Given the description of an element on the screen output the (x, y) to click on. 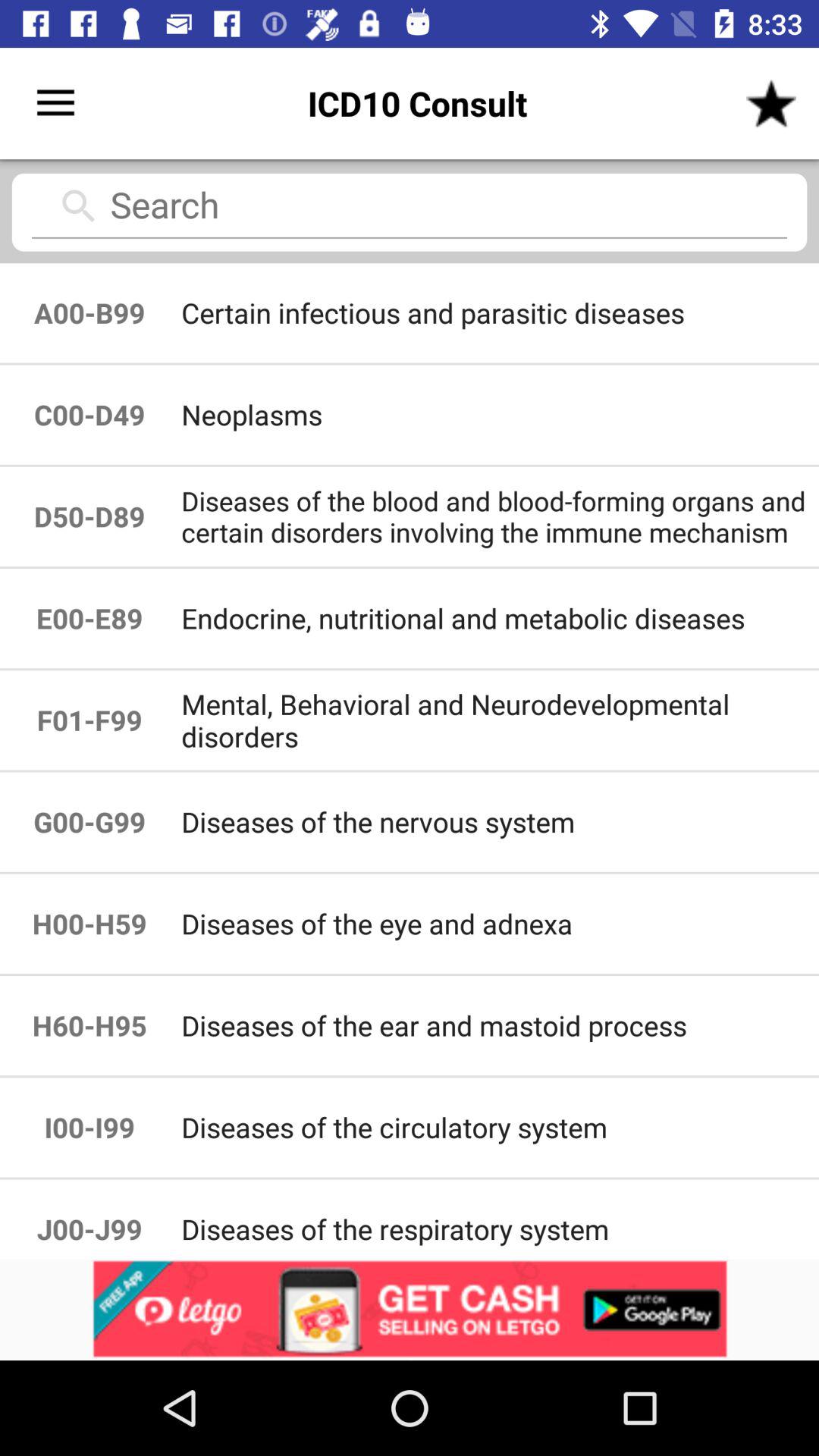
launch the item next to icd10 consult (55, 103)
